Given the description of an element on the screen output the (x, y) to click on. 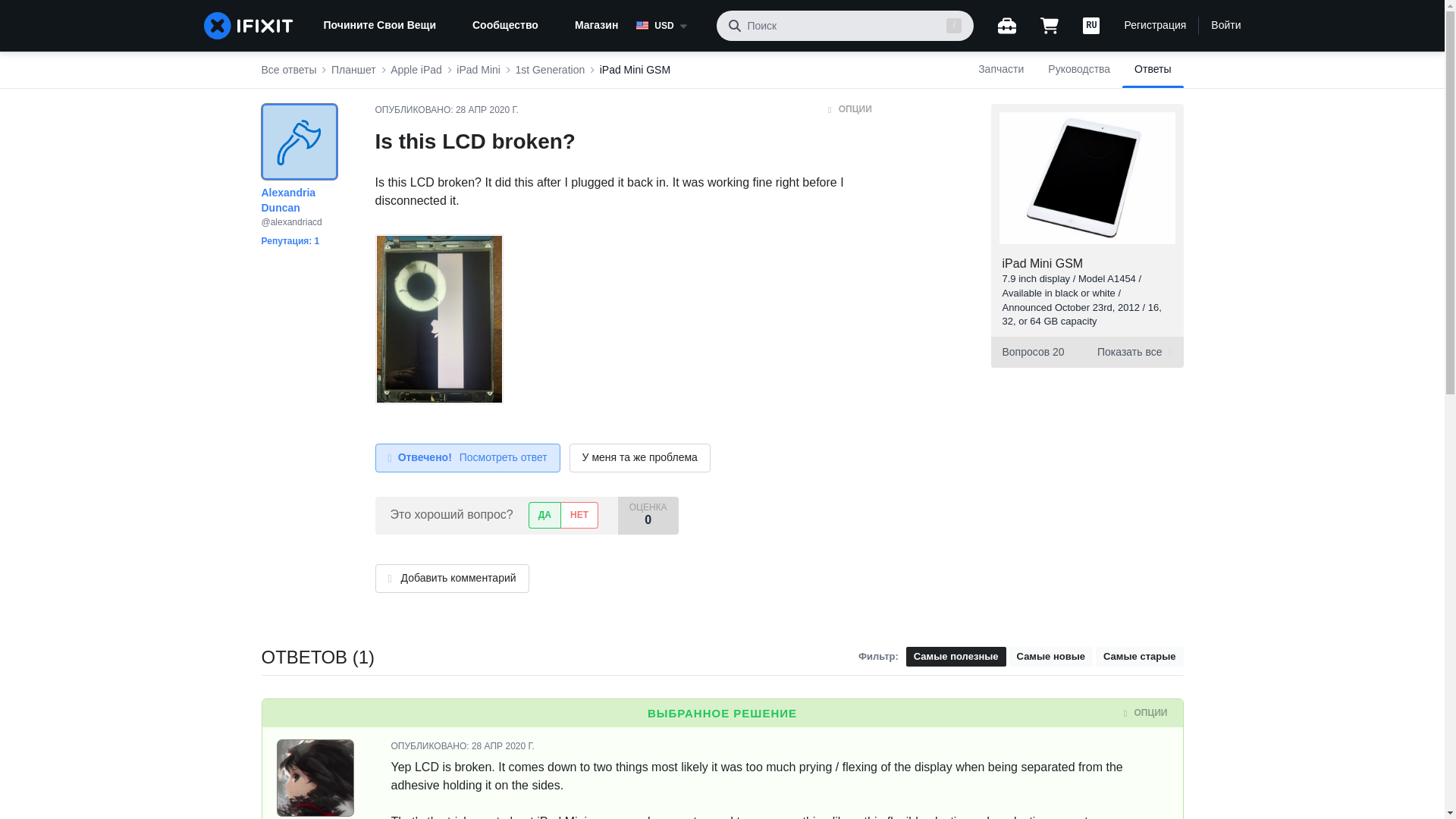
Tue, 28 Apr 2020 17:02:45 -0700 (486, 109)
iPad Mini GSM (634, 69)
Tue, 28 Apr 2020 18:17:21 -0700 (502, 746)
iPad Mini GSM (1043, 263)
USD (670, 25)
iPad Mini (478, 69)
1st Generation (550, 69)
Apple iPad (416, 69)
